Given the description of an element on the screen output the (x, y) to click on. 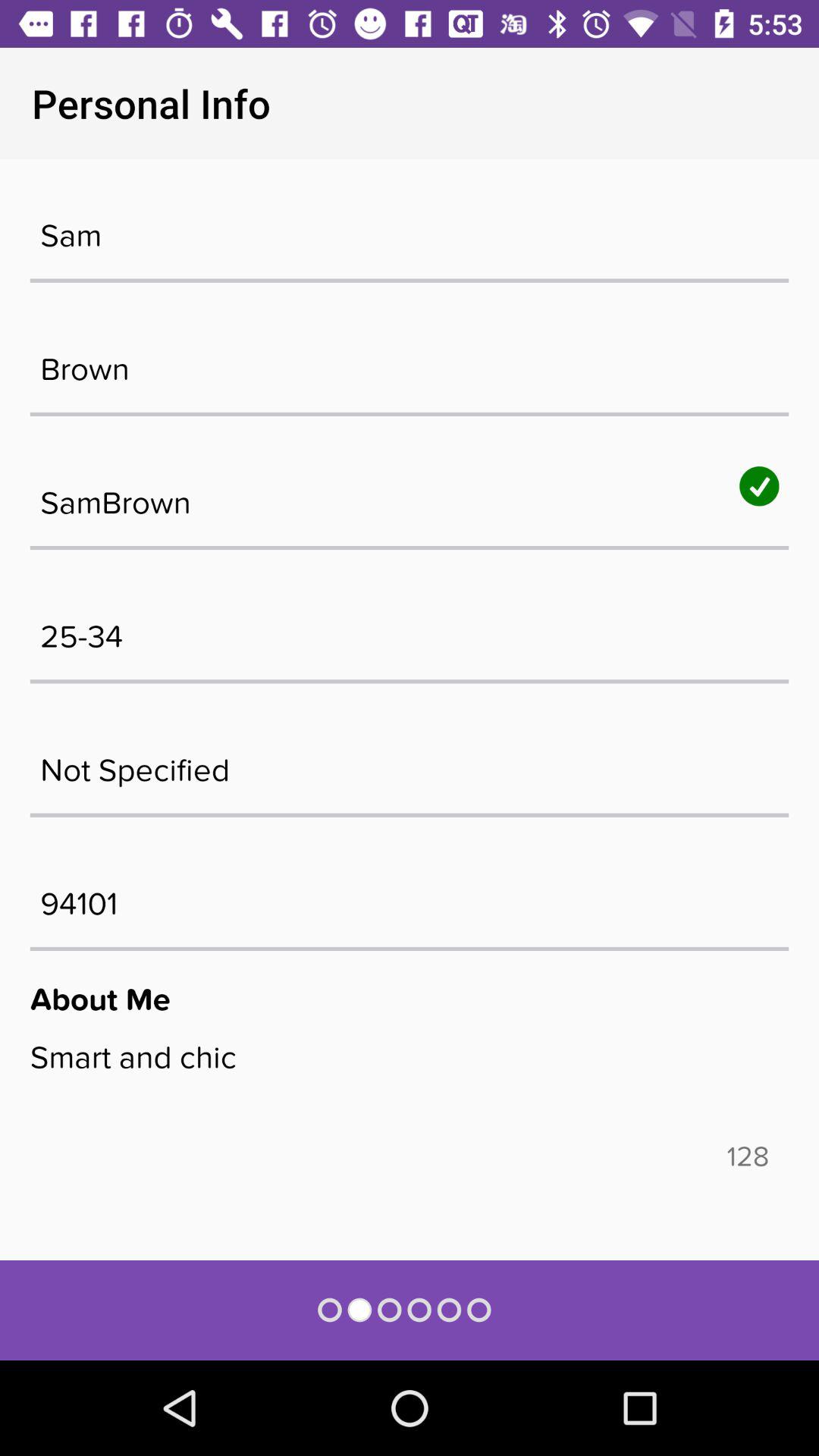
tap the not specified (409, 762)
